Given the description of an element on the screen output the (x, y) to click on. 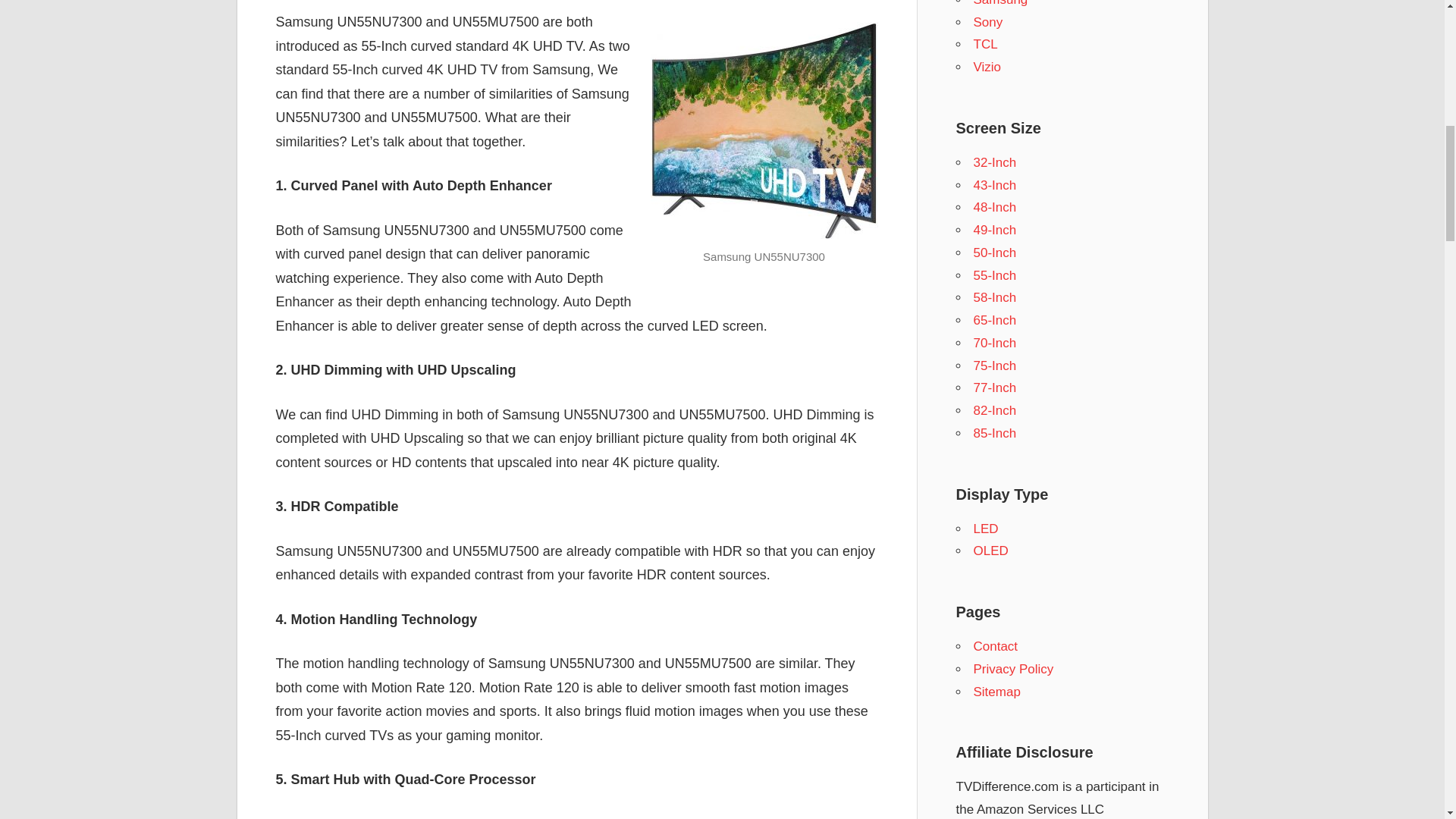
48-Inch (995, 206)
TCL (985, 43)
Samsung (1000, 3)
32-Inch (995, 162)
Vizio (987, 66)
Sony (988, 22)
43-Inch (995, 185)
